Given the description of an element on the screen output the (x, y) to click on. 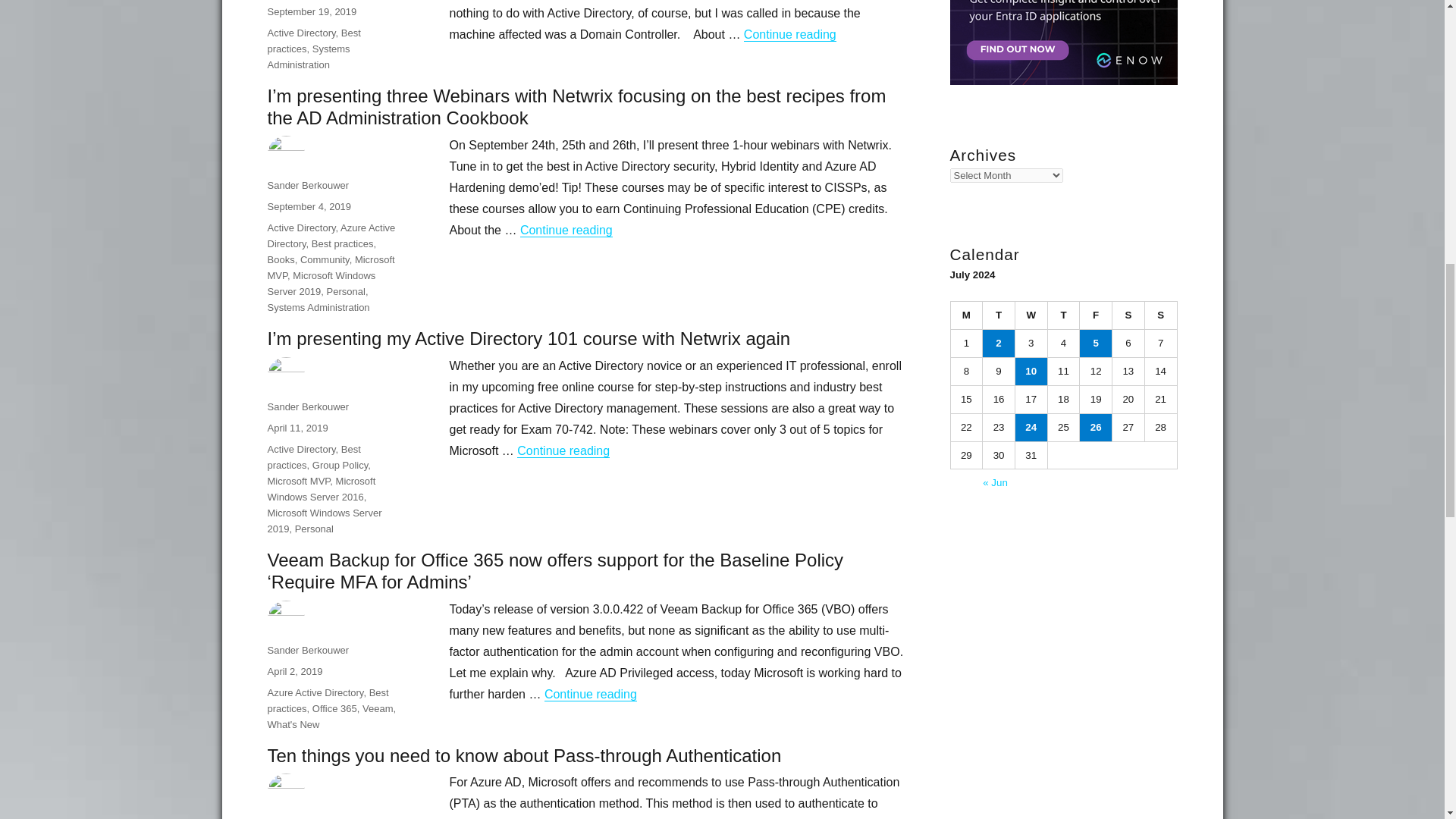
Sander Berkouwer (307, 184)
Tuesday (998, 316)
Active Directory (300, 227)
September 4, 2019 (308, 206)
Friday (1096, 316)
Best practices (312, 40)
Active Directory (300, 32)
Monday (967, 316)
Saturday (1128, 316)
September 19, 2019 (311, 11)
Systems Administration (307, 56)
Sunday (1160, 316)
Wednesday (1031, 316)
Thursday (1064, 316)
